Given the description of an element on the screen output the (x, y) to click on. 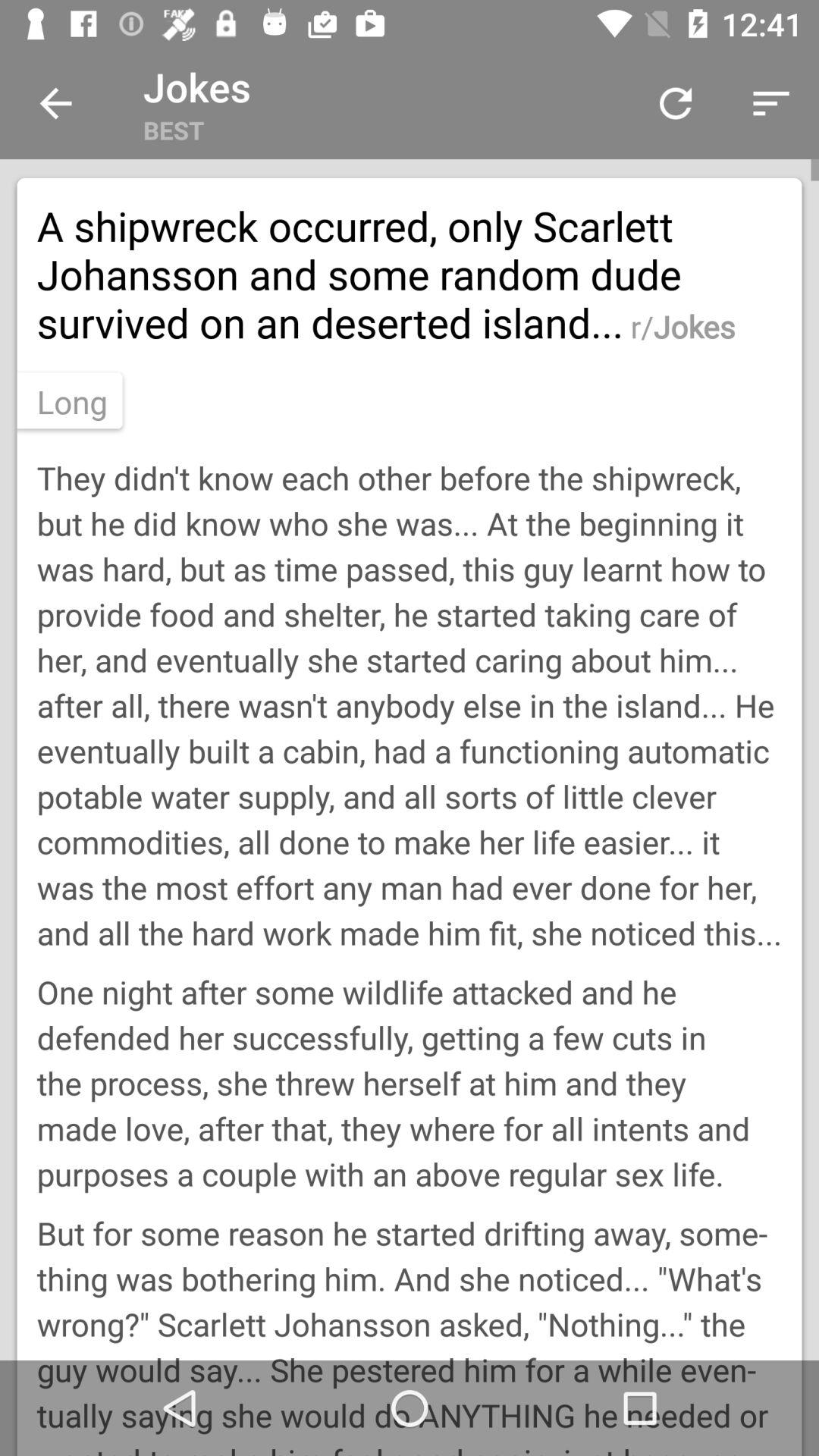
click on the top right side button (771, 103)
